Given the description of an element on the screen output the (x, y) to click on. 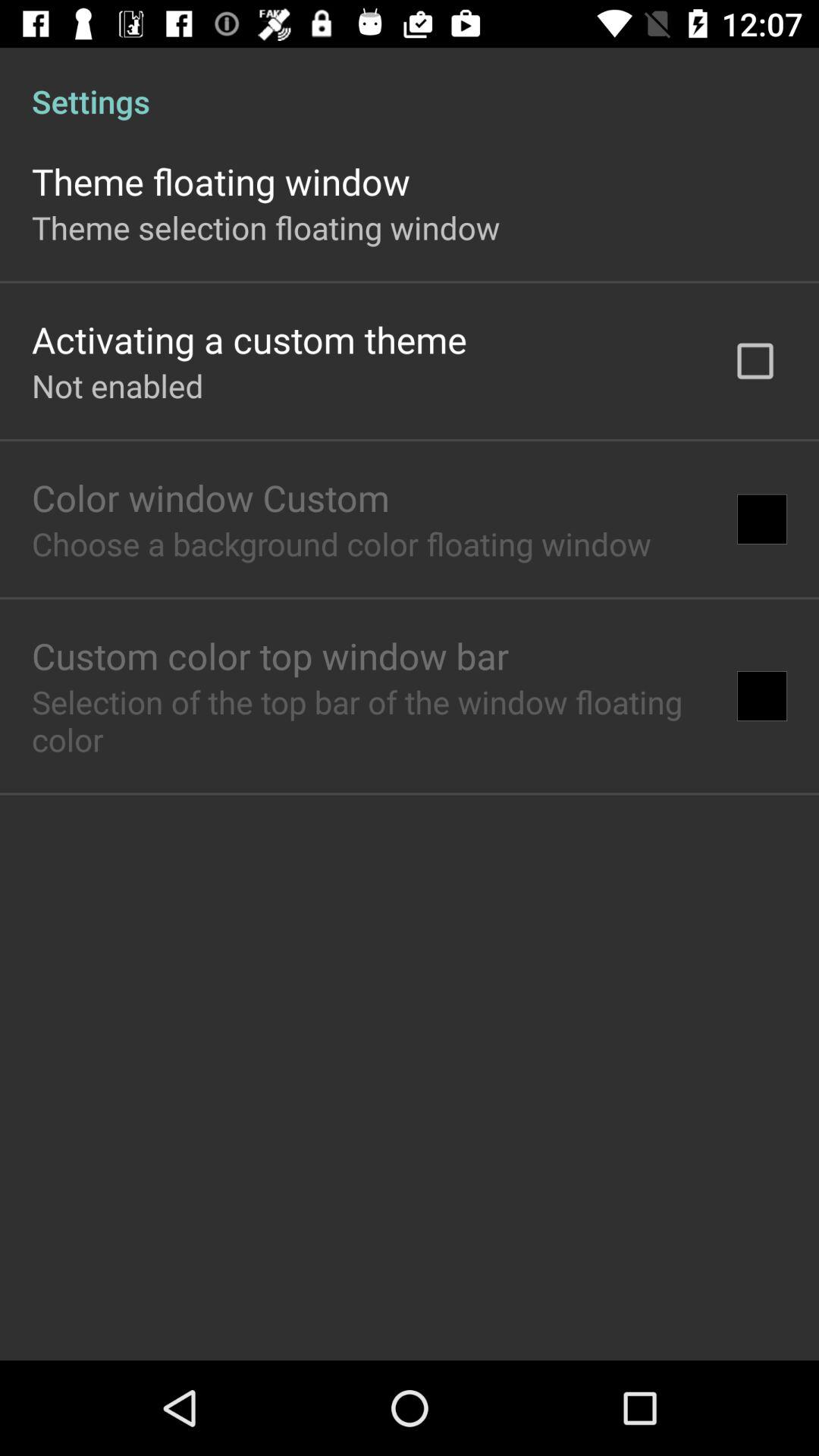
press the icon next to the activating a custom icon (755, 361)
